Given the description of an element on the screen output the (x, y) to click on. 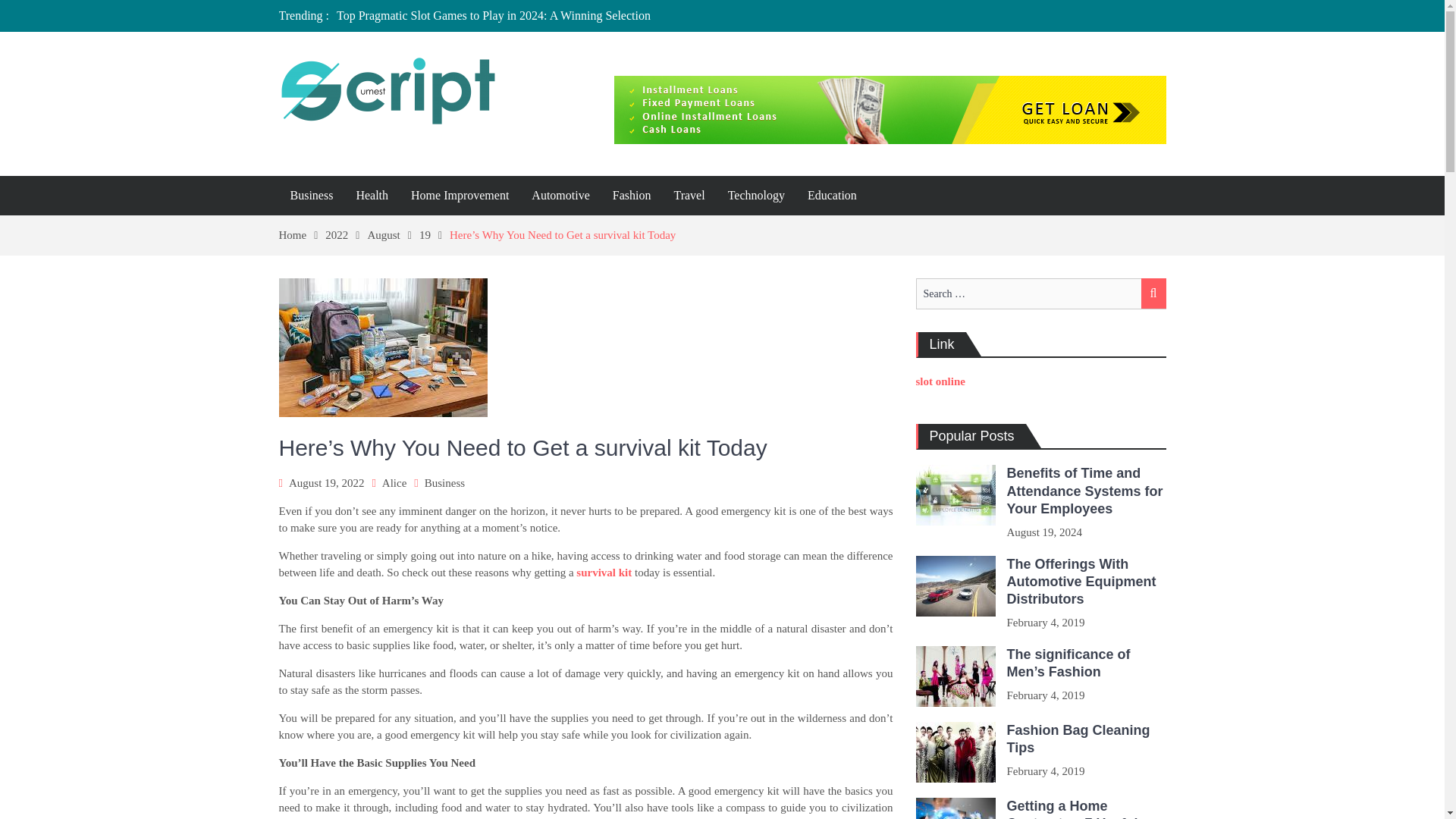
Alice (393, 482)
August (392, 234)
Education (831, 195)
Home Improvement (458, 195)
Business (444, 482)
Technology (756, 195)
Automotive (559, 195)
August 19, 2022 (326, 482)
survival kit (603, 572)
Health (370, 195)
